Given the description of an element on the screen output the (x, y) to click on. 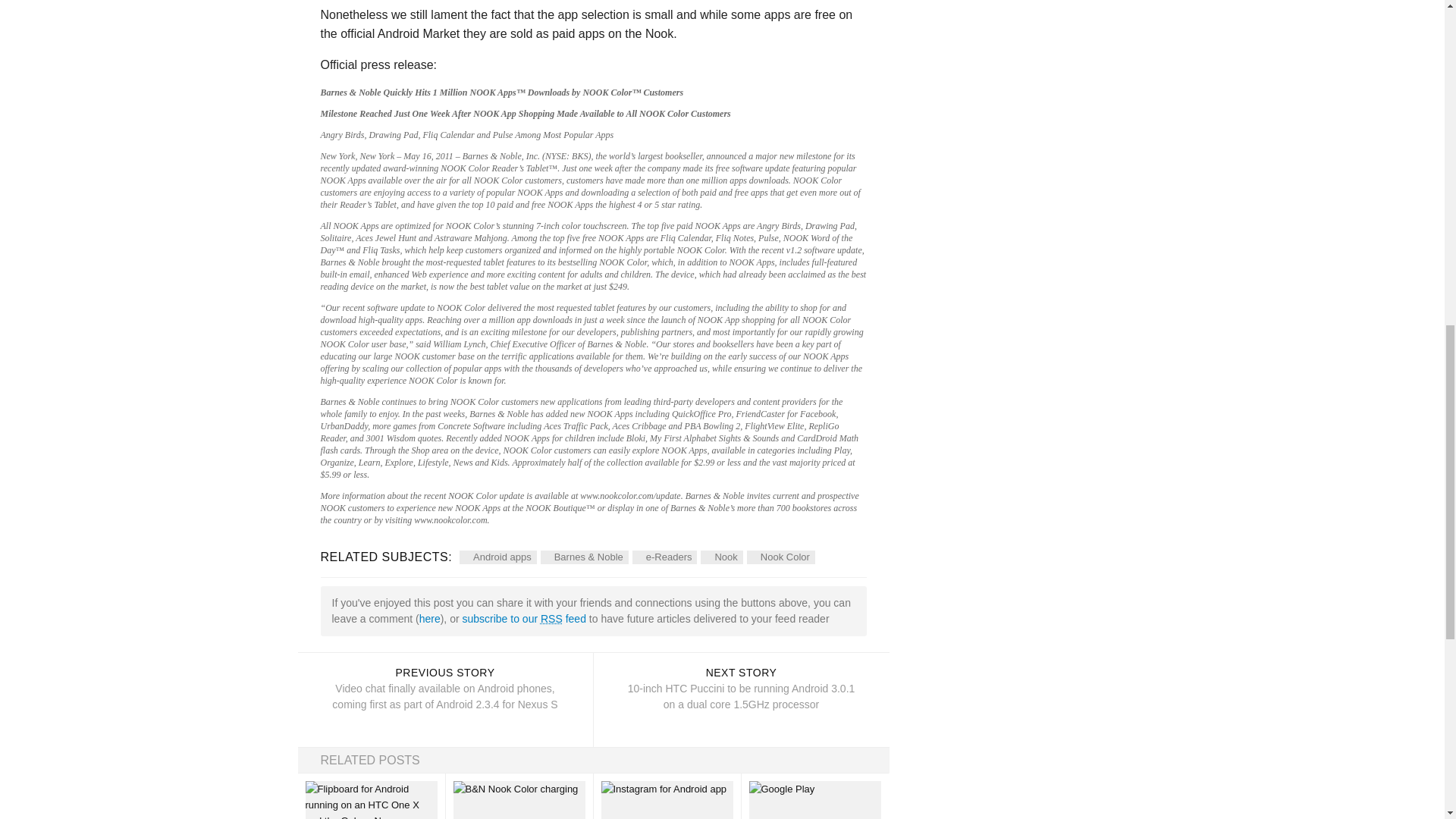
Nook (665, 800)
e-Readers (721, 557)
Syndicate this site using RSS (664, 557)
Really Simple Syndication (523, 618)
here (551, 618)
subscribe to our RSS feed (430, 618)
Nook Color (523, 618)
Android apps (780, 557)
